Given the description of an element on the screen output the (x, y) to click on. 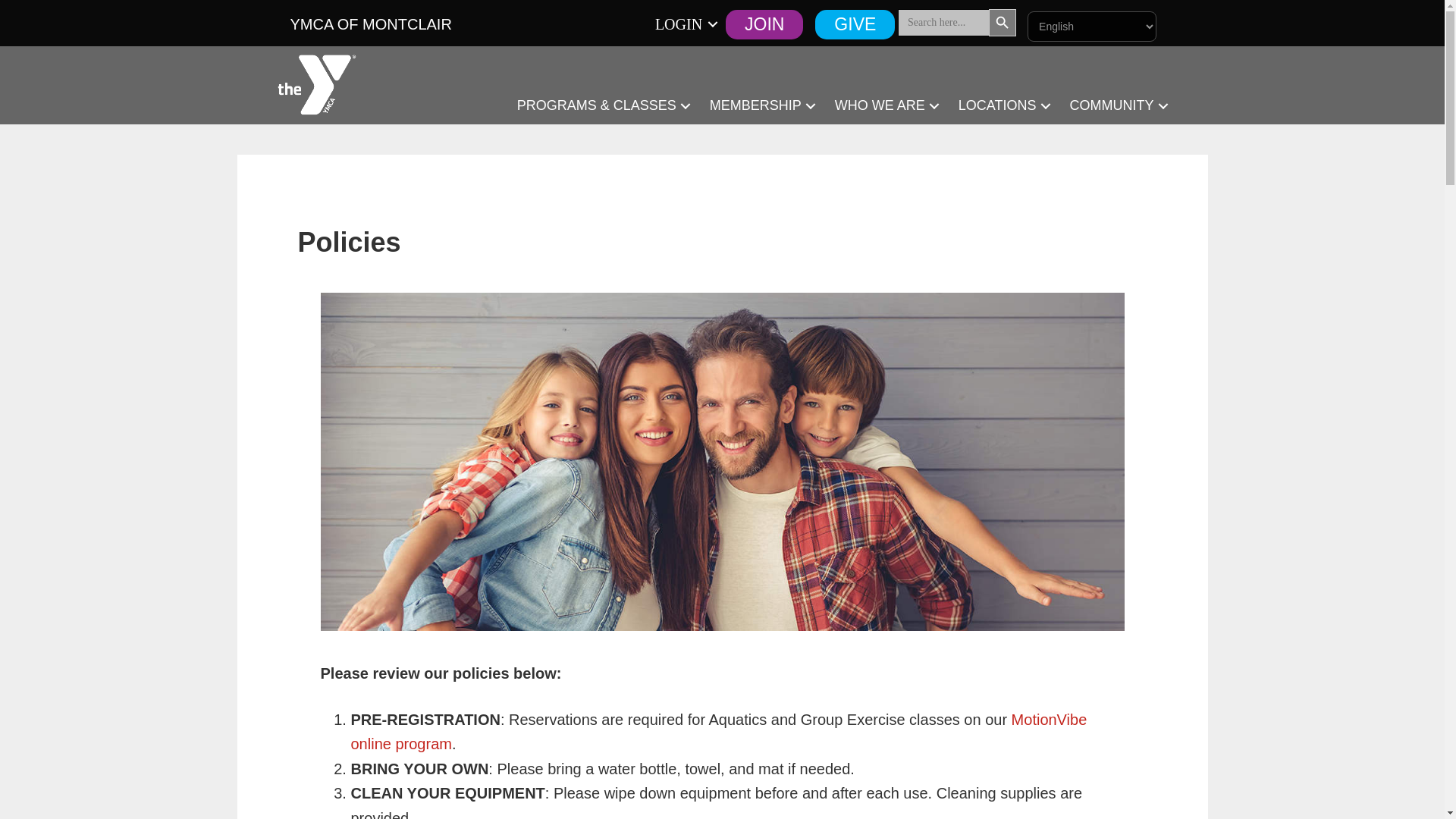
White Logo-01-01 (317, 84)
GIVE (855, 24)
YMCA OF MONTCLAIR (370, 23)
YMCA OF MONTCLAIR (370, 23)
JOIN (764, 24)
LOGIN (684, 24)
Search Button (1002, 22)
